Given the description of an element on the screen output the (x, y) to click on. 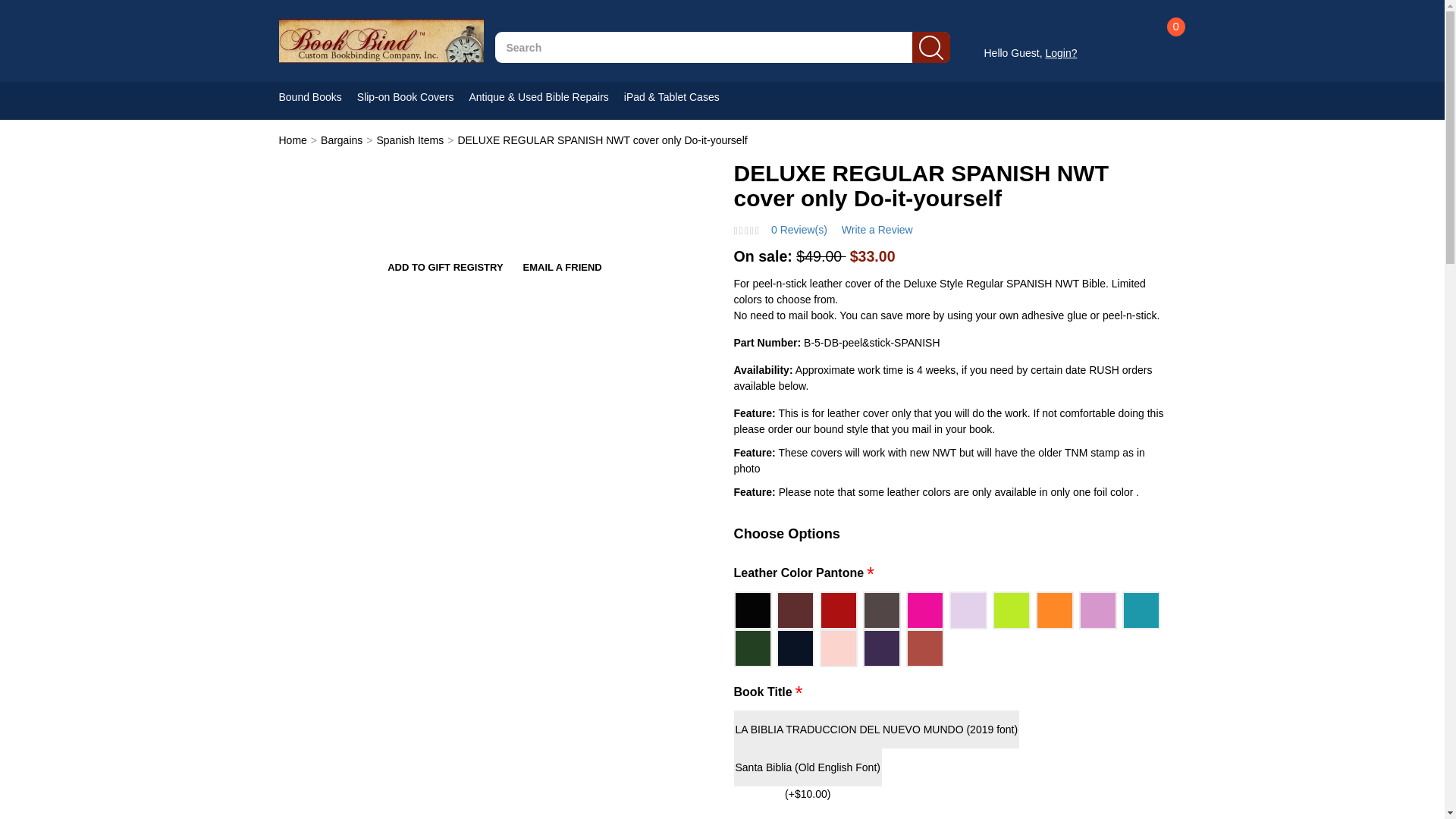
Login? (1061, 52)
Bargains (341, 140)
DELUXE REGULAR SPANISH NWT cover only Do-it-yourself (601, 140)
CB-LIME (1011, 610)
CB-HUNTER GREEN (752, 648)
CB-HOT PINK (924, 610)
Write a Review (876, 229)
ADD TO GIFT REGISTRY (445, 268)
0 (1157, 70)
Bound Books (317, 97)
CB-DISTRESSED BROWN (882, 610)
CB-BLACK (752, 610)
Home (293, 140)
EMAIL A FRIEND (562, 268)
CB-BURGUNDY (794, 610)
